Given the description of an element on the screen output the (x, y) to click on. 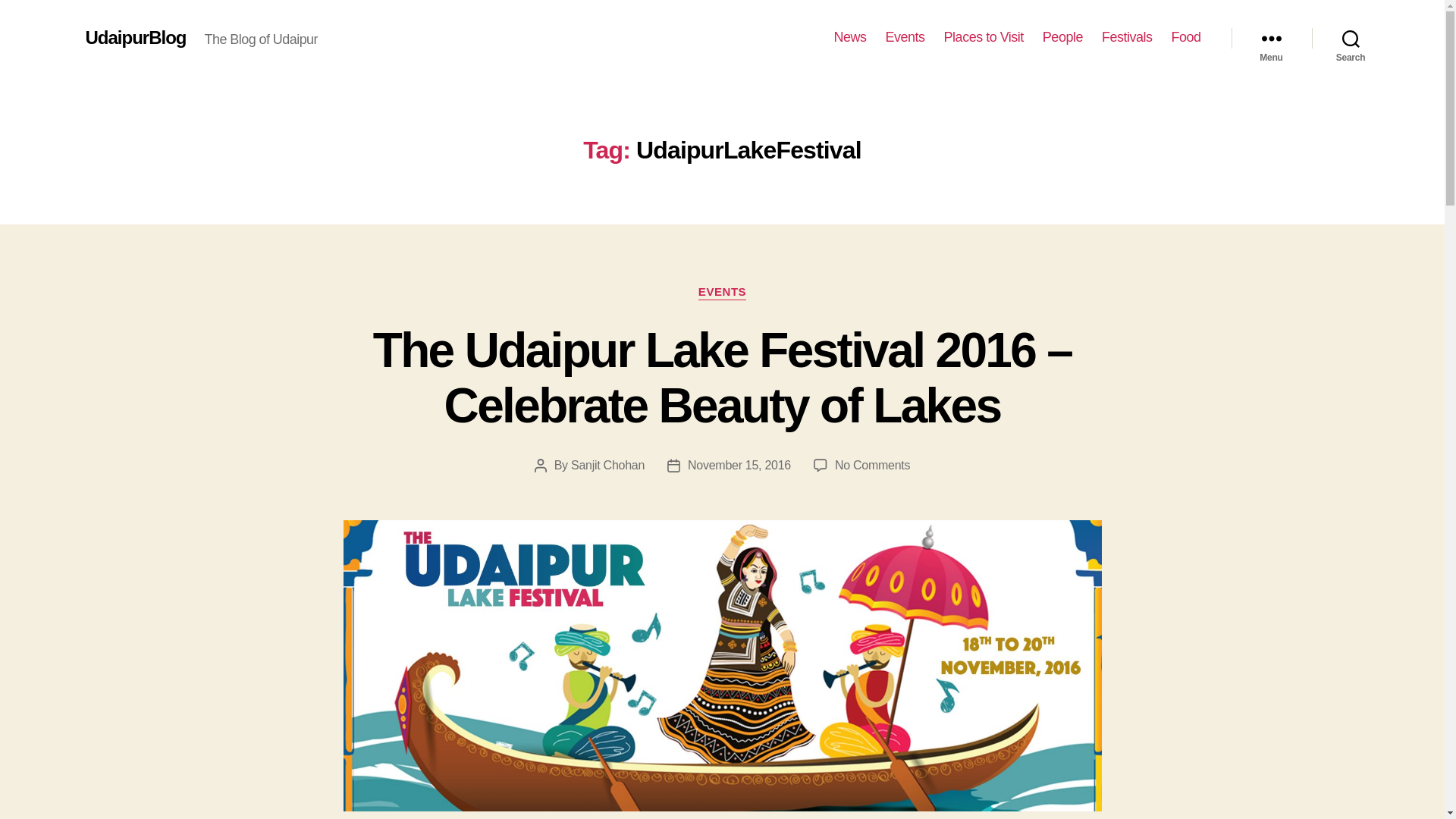
Places to Visit (983, 37)
Festivals (1127, 37)
News (850, 37)
Search (1350, 37)
Food (1184, 37)
People (1062, 37)
Sanjit Chohan (607, 464)
UdaipurBlog (135, 37)
Events (904, 37)
EVENTS (721, 292)
Menu (1271, 37)
November 15, 2016 (738, 464)
